Given the description of an element on the screen output the (x, y) to click on. 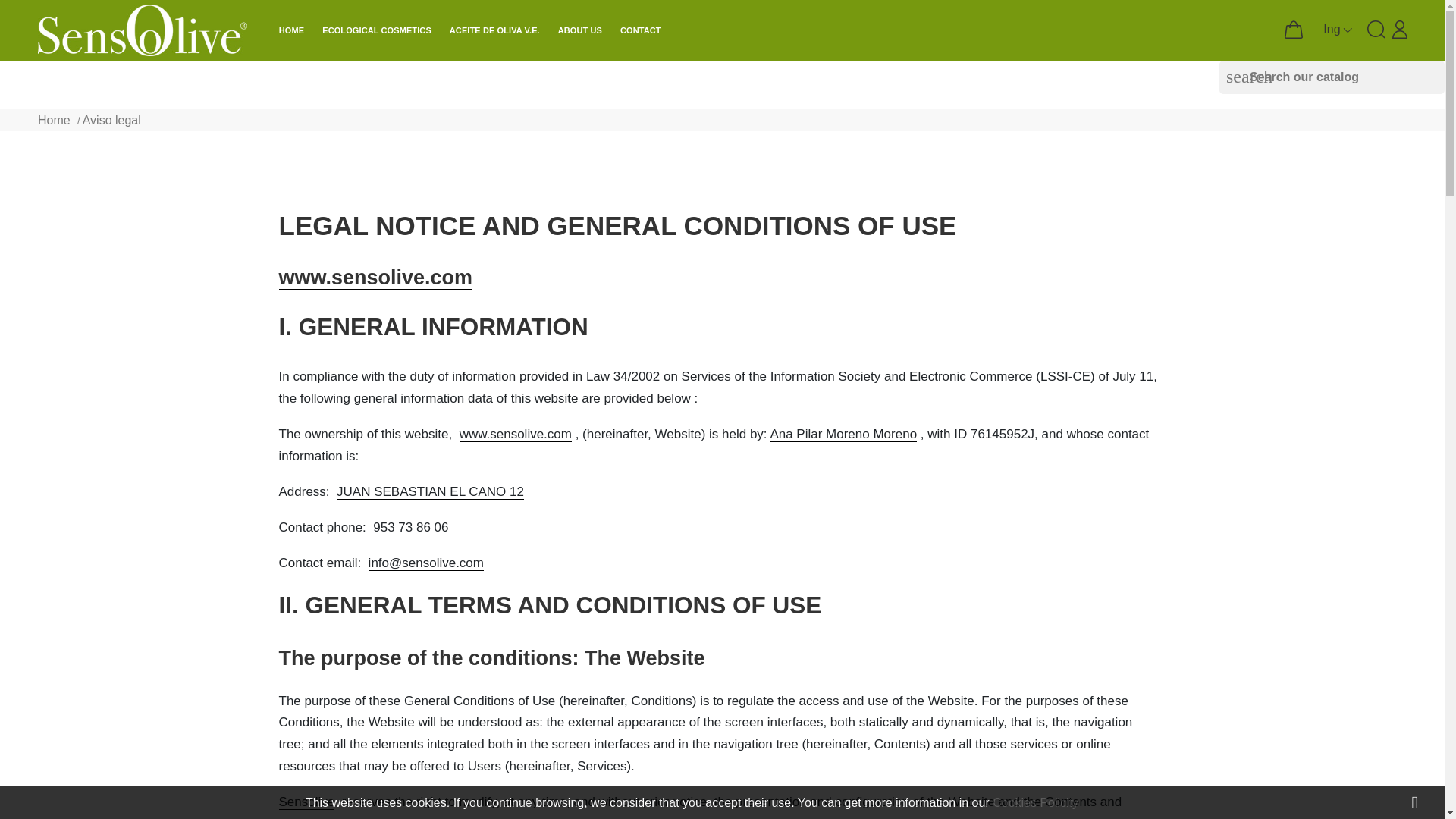
ECOLOGICAL COSMETICS (375, 30)
Sensolive (142, 30)
ACEITE DE OLIVA V.E. (494, 30)
Ing (1338, 29)
